Given the description of an element on the screen output the (x, y) to click on. 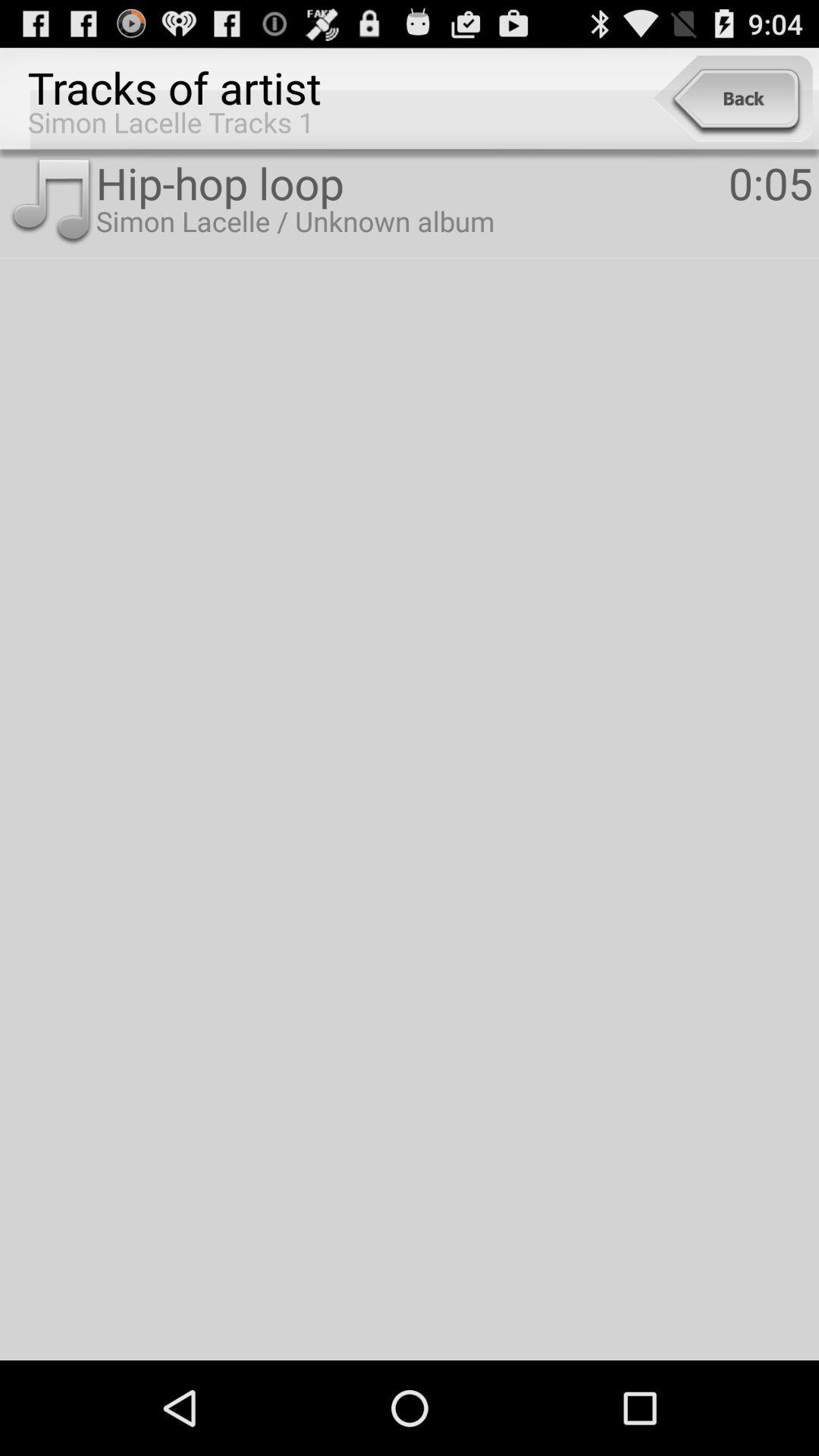
press the item to the left of 0:05 icon (412, 182)
